Given the description of an element on the screen output the (x, y) to click on. 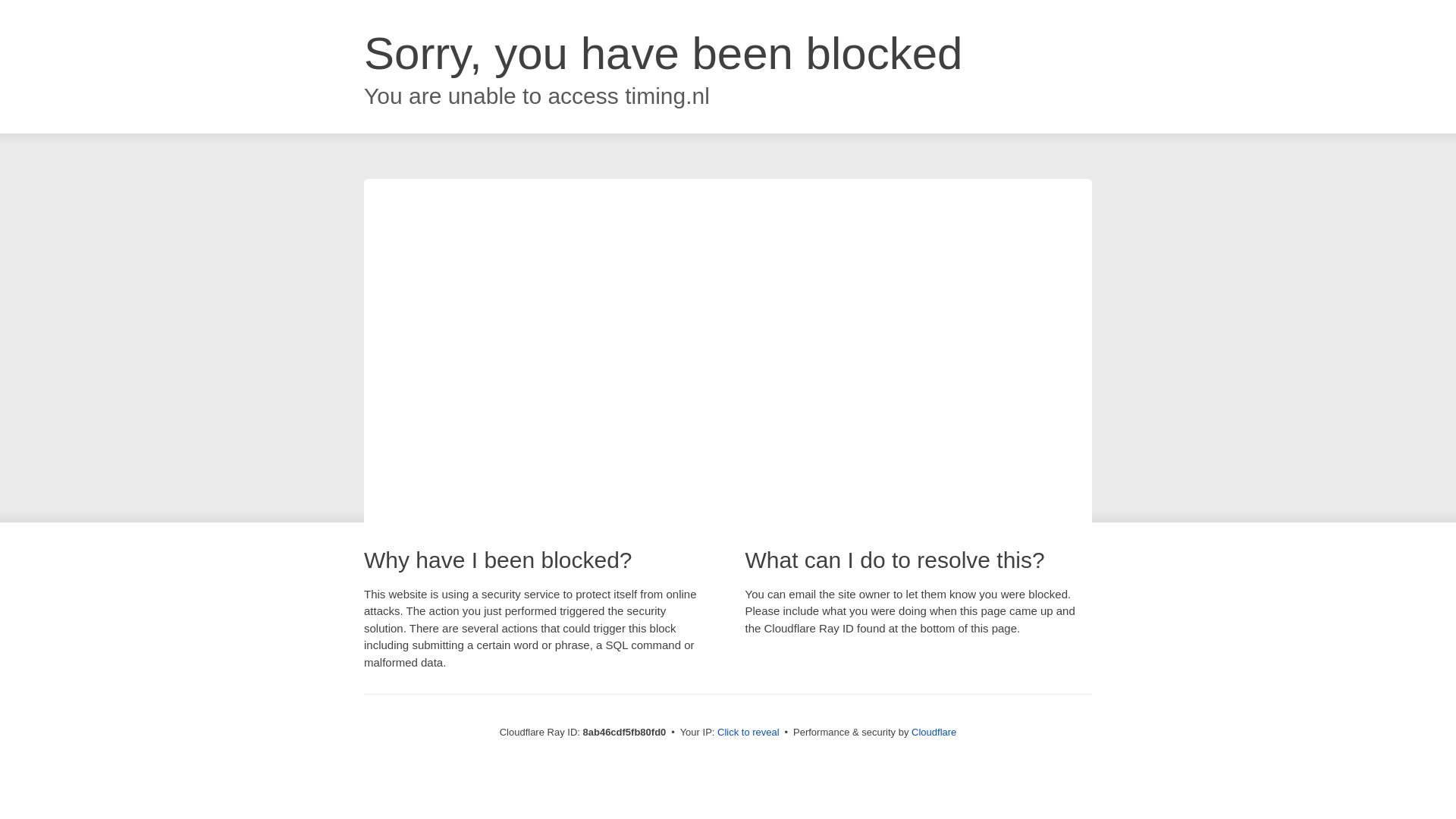
Cloudflare (933, 731)
Click to reveal (747, 732)
